Given the description of an element on the screen output the (x, y) to click on. 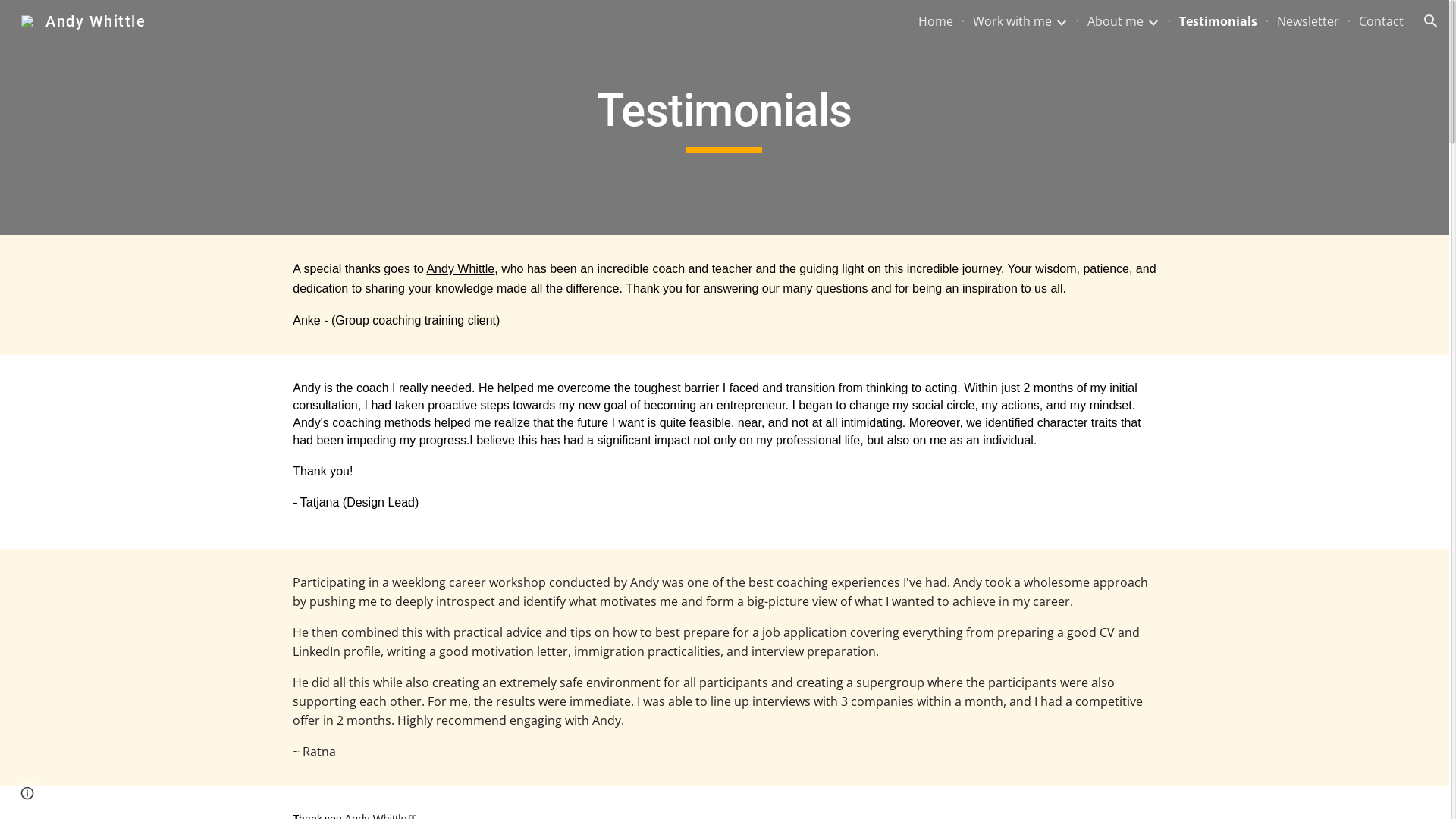
Expand/Collapse Element type: hover (1152, 20)
Andy Whittle Element type: text (83, 19)
Expand/Collapse Element type: hover (1060, 20)
About me Element type: text (1115, 20)
Work with me Element type: text (1011, 20)
Home Element type: text (935, 20)
Andy Whittle Element type: text (460, 268)
Testimonials Element type: text (1218, 20)
Contact Element type: text (1380, 20)
Newsletter Element type: text (1308, 20)
